Given the description of an element on the screen output the (x, y) to click on. 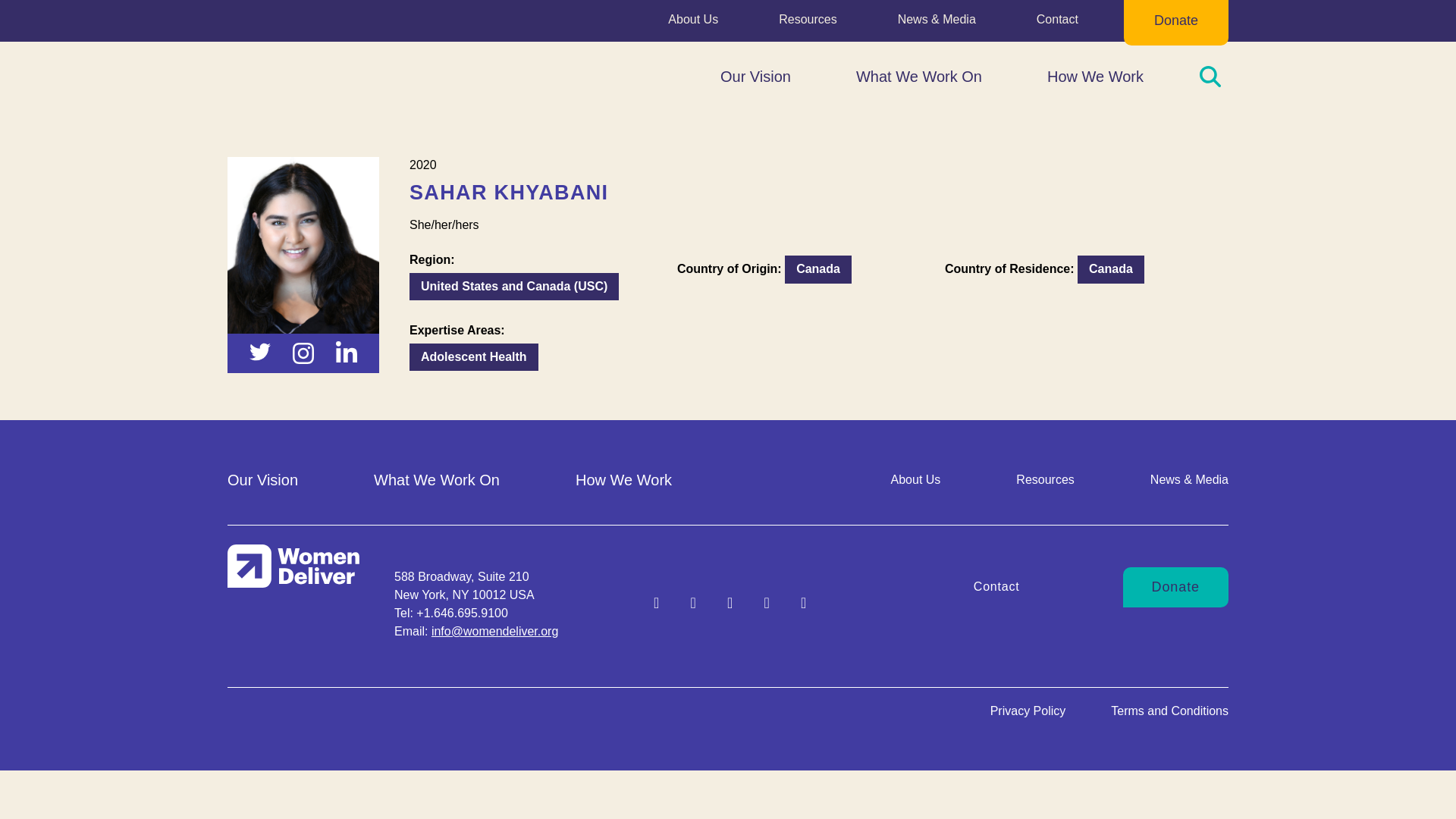
Contact (1057, 22)
Our Vision (755, 76)
Resources (806, 22)
What We Work On (919, 76)
About Us (692, 22)
Donate (1176, 20)
How We Work (1095, 76)
